Given the description of an element on the screen output the (x, y) to click on. 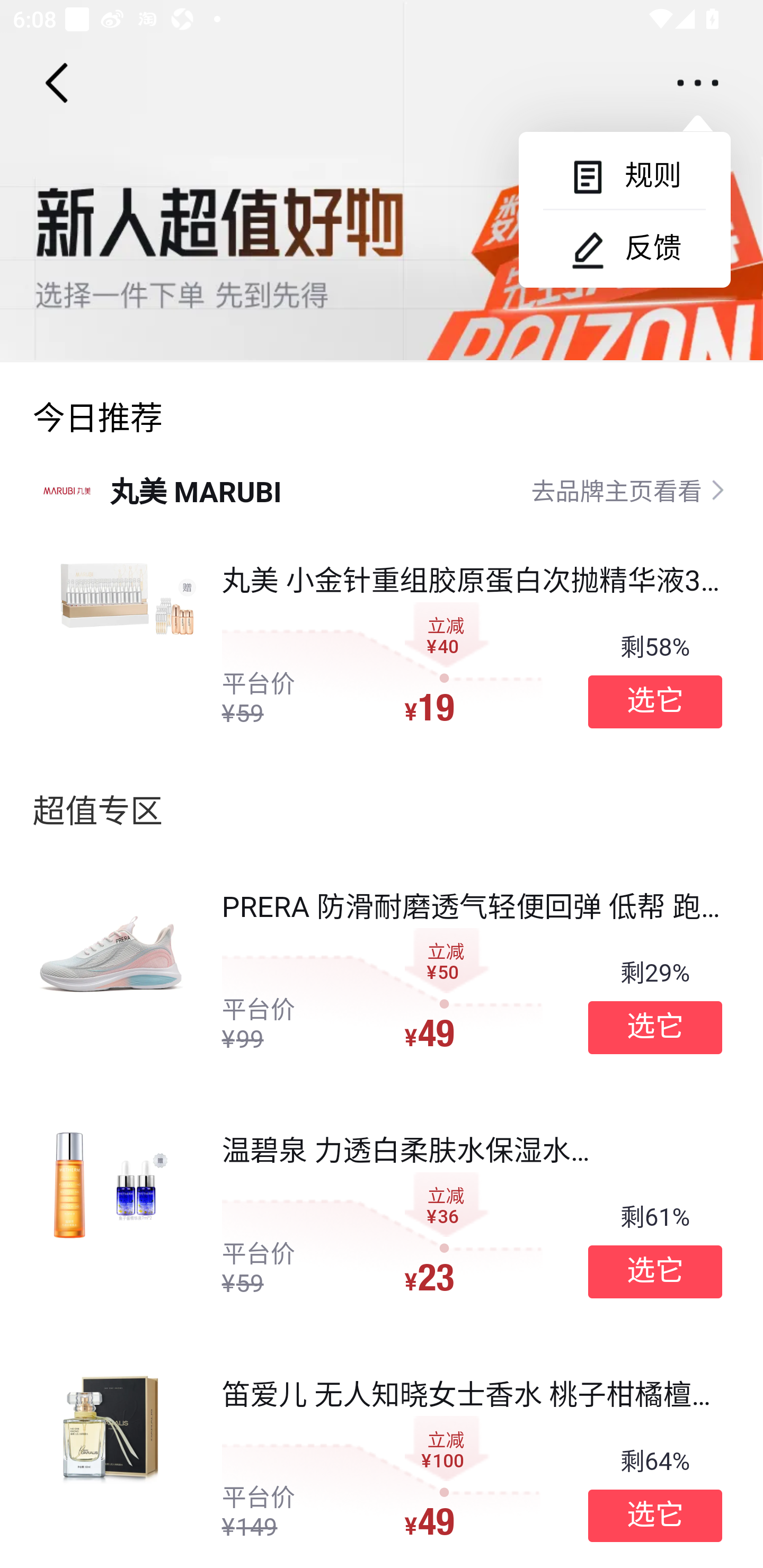
规则 (624, 176)
反馈 (624, 248)
丸美 MARUBI去品牌主页看看 (381, 489)
选它 (654, 701)
选它 (654, 1027)
选它 (654, 1271)
选它 (654, 1515)
